Given the description of an element on the screen output the (x, y) to click on. 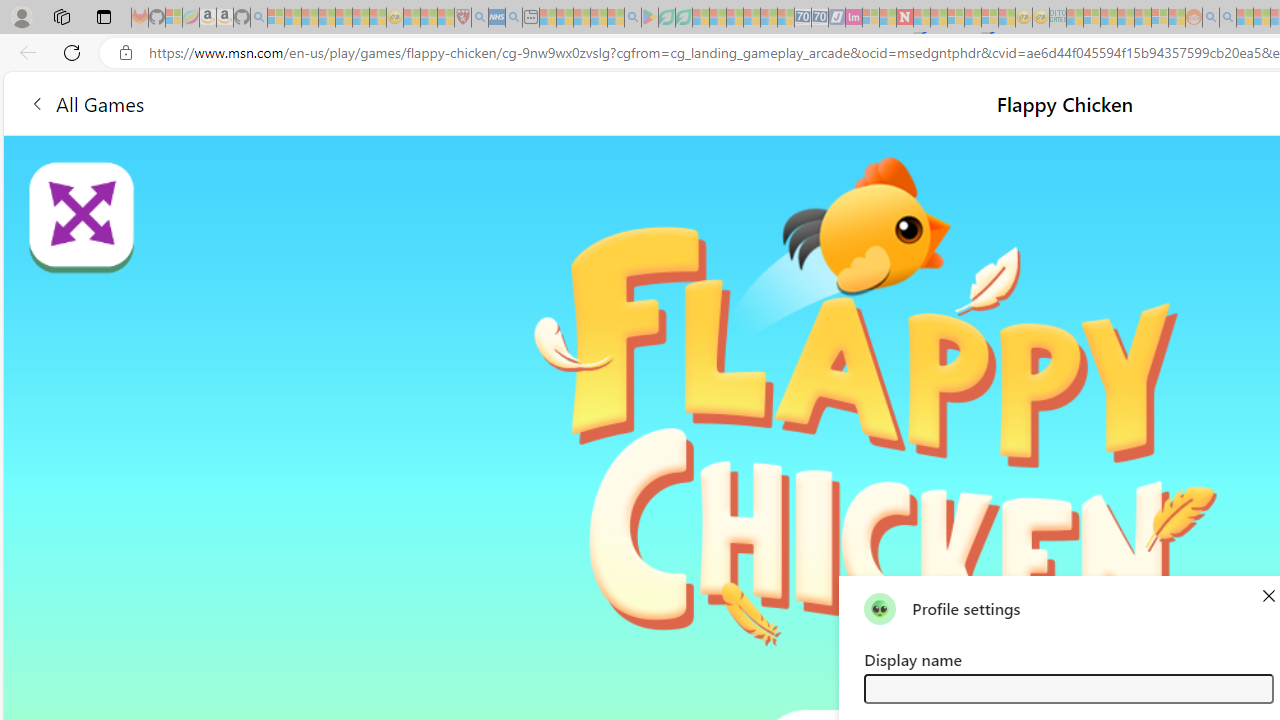
All Games (373, 102)
